Given the description of an element on the screen output the (x, y) to click on. 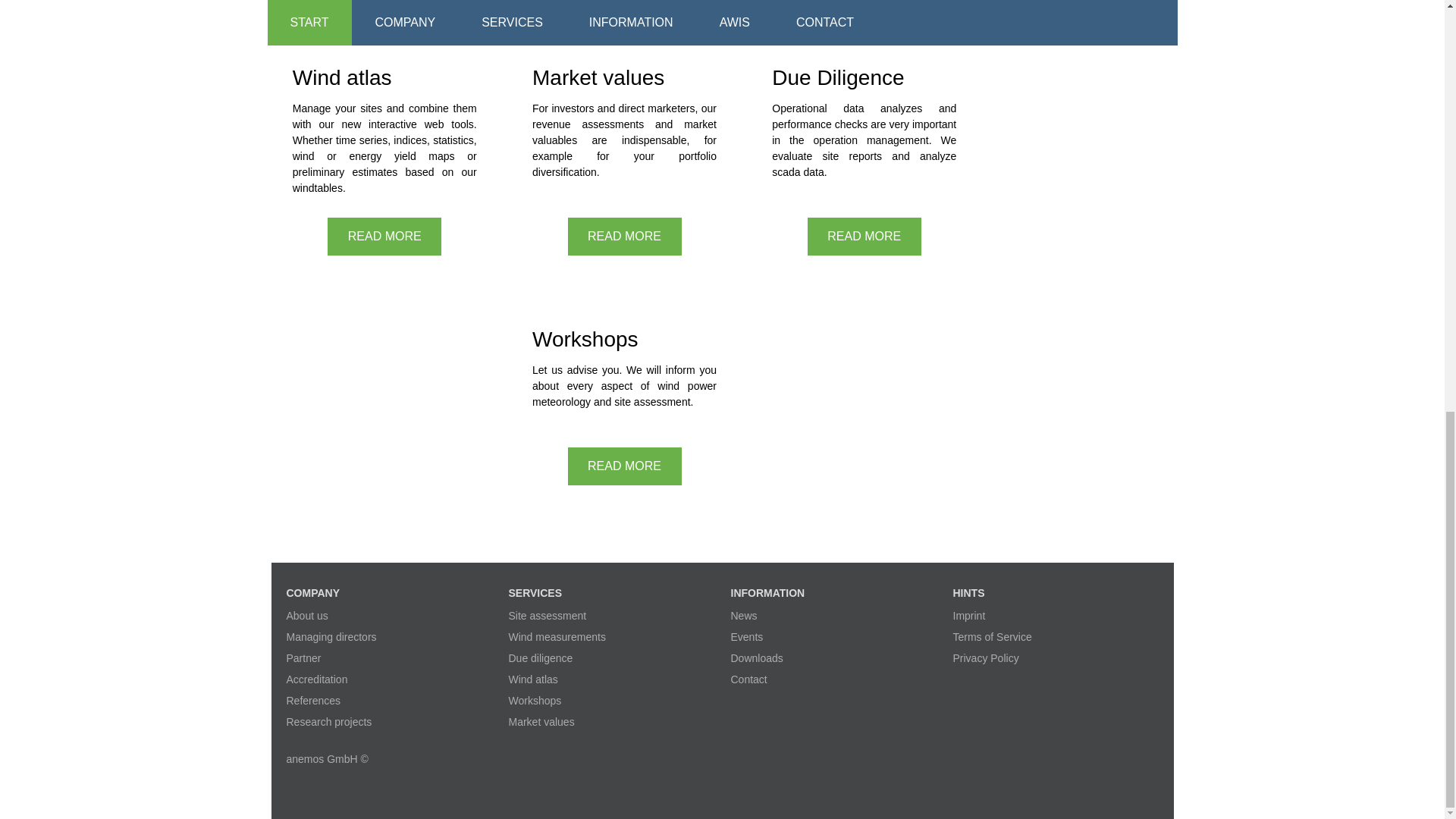
Terms of Service (991, 636)
